Given the description of an element on the screen output the (x, y) to click on. 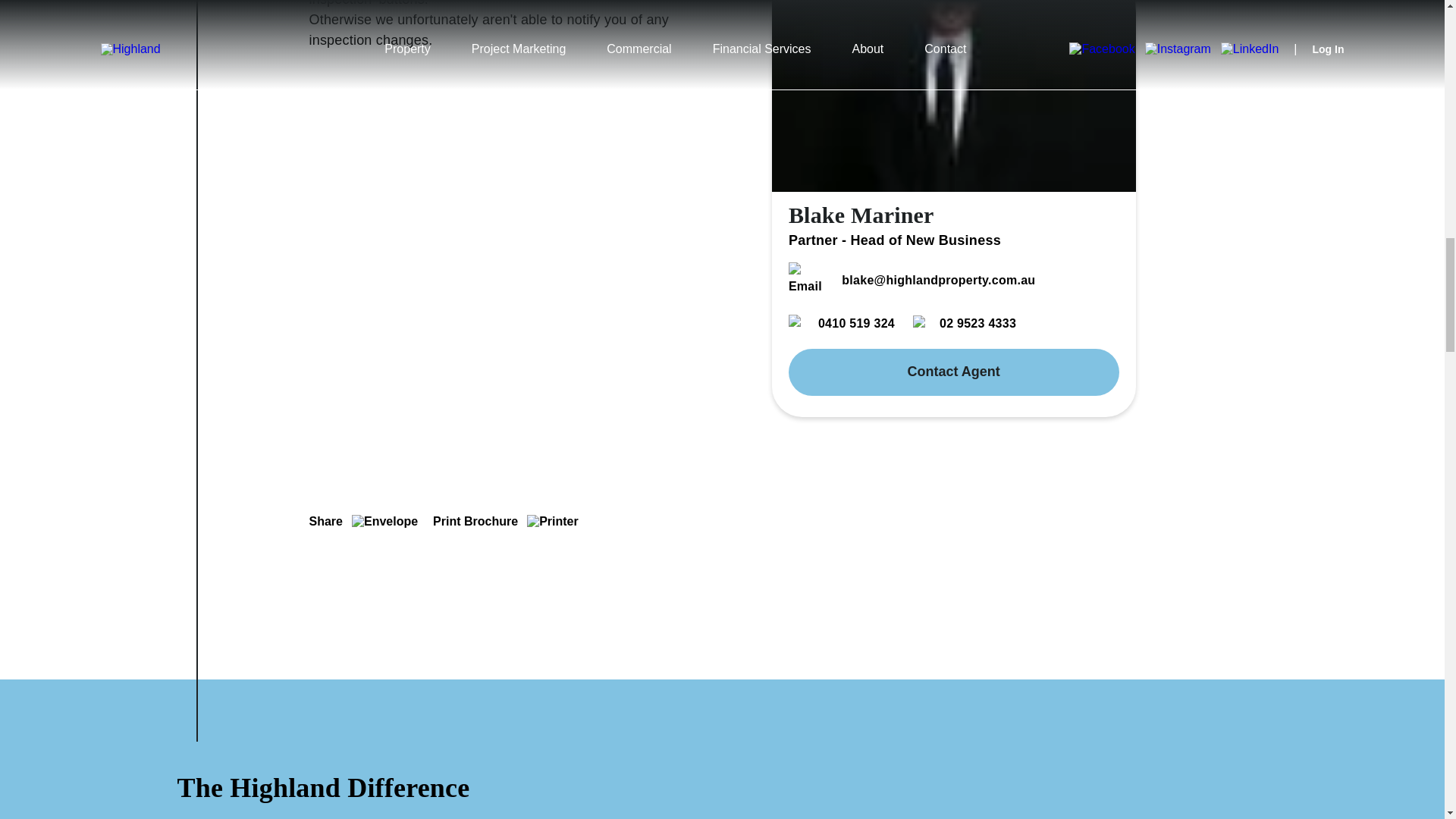
Print Brochure (505, 521)
Share (363, 521)
Contact Agent (954, 371)
0410 519 324 (842, 323)
02 9523 4333 (964, 323)
Blake Mariner (861, 214)
